Given the description of an element on the screen output the (x, y) to click on. 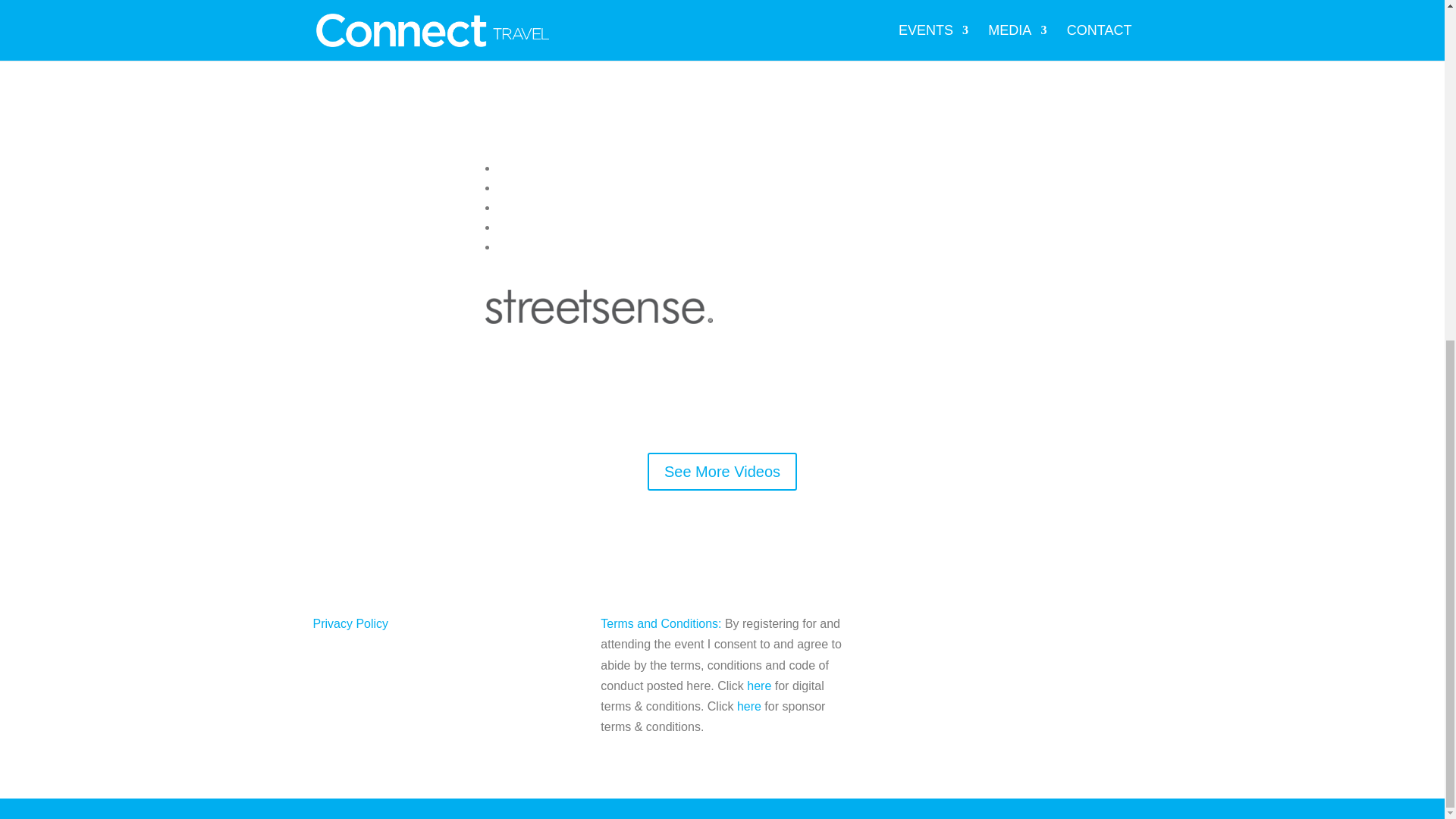
here (758, 685)
Follow on X (1088, 625)
here (748, 706)
See More Videos (721, 471)
Follow on Facebook (1058, 625)
Privacy Policy (350, 623)
Follow on LinkedIn (1118, 625)
Terms and Conditions: (659, 623)
